Given the description of an element on the screen output the (x, y) to click on. 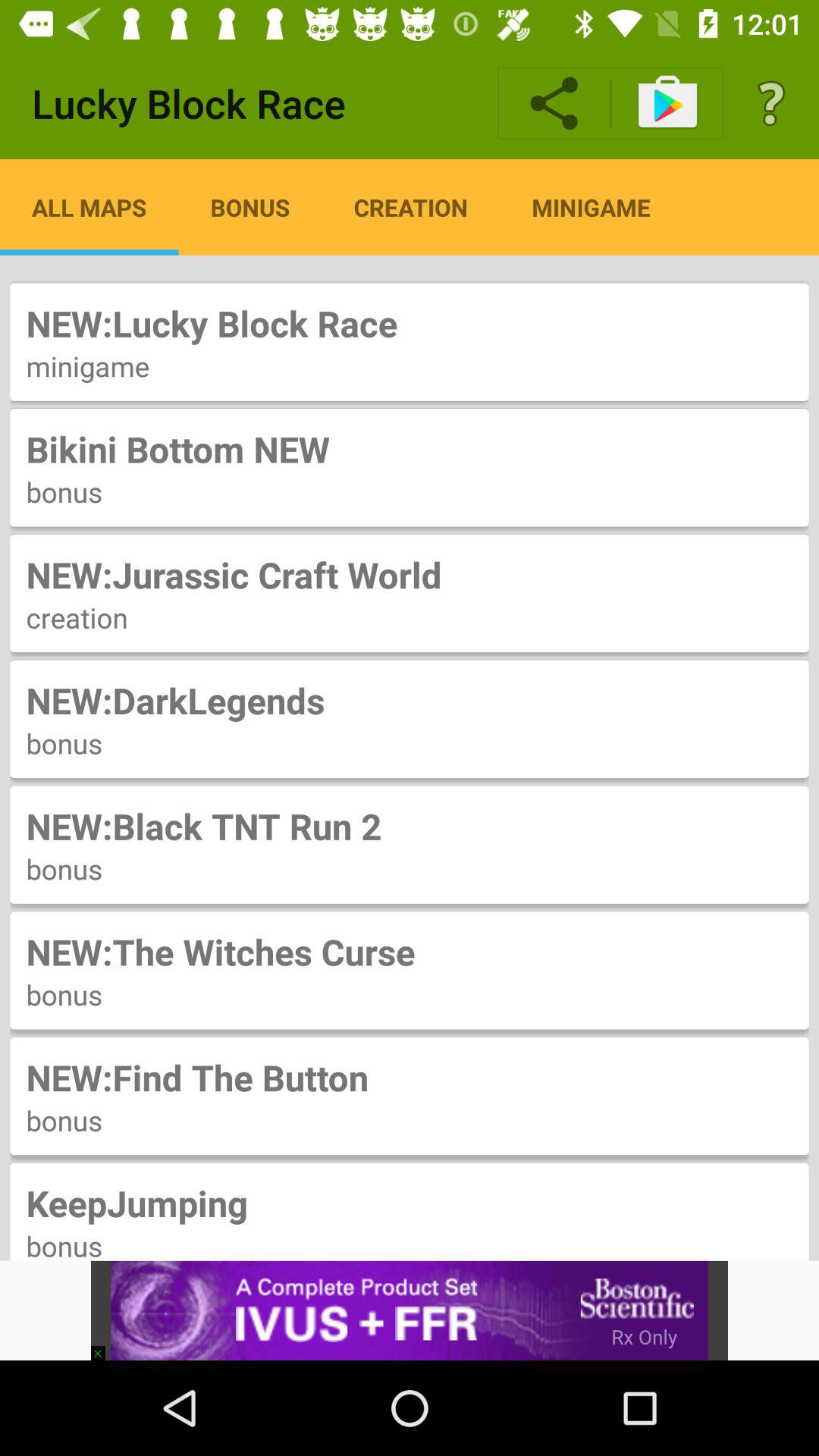
open the item below the bonus icon (409, 1203)
